Given the description of an element on the screen output the (x, y) to click on. 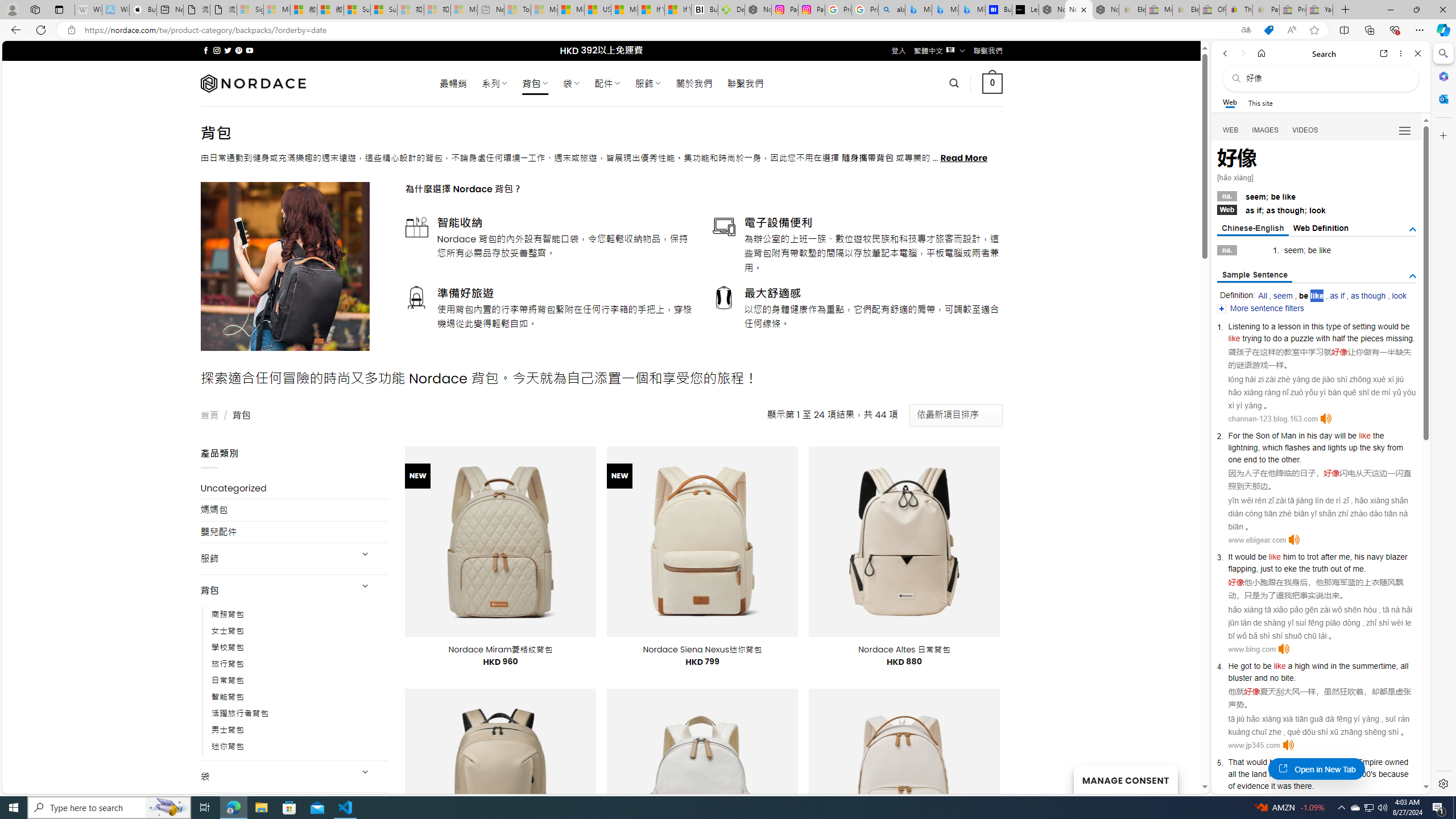
AutomationID: tgdef_sen (1412, 276)
All (1261, 295)
Descarga Driver Updater (731, 9)
